Given the description of an element on the screen output the (x, y) to click on. 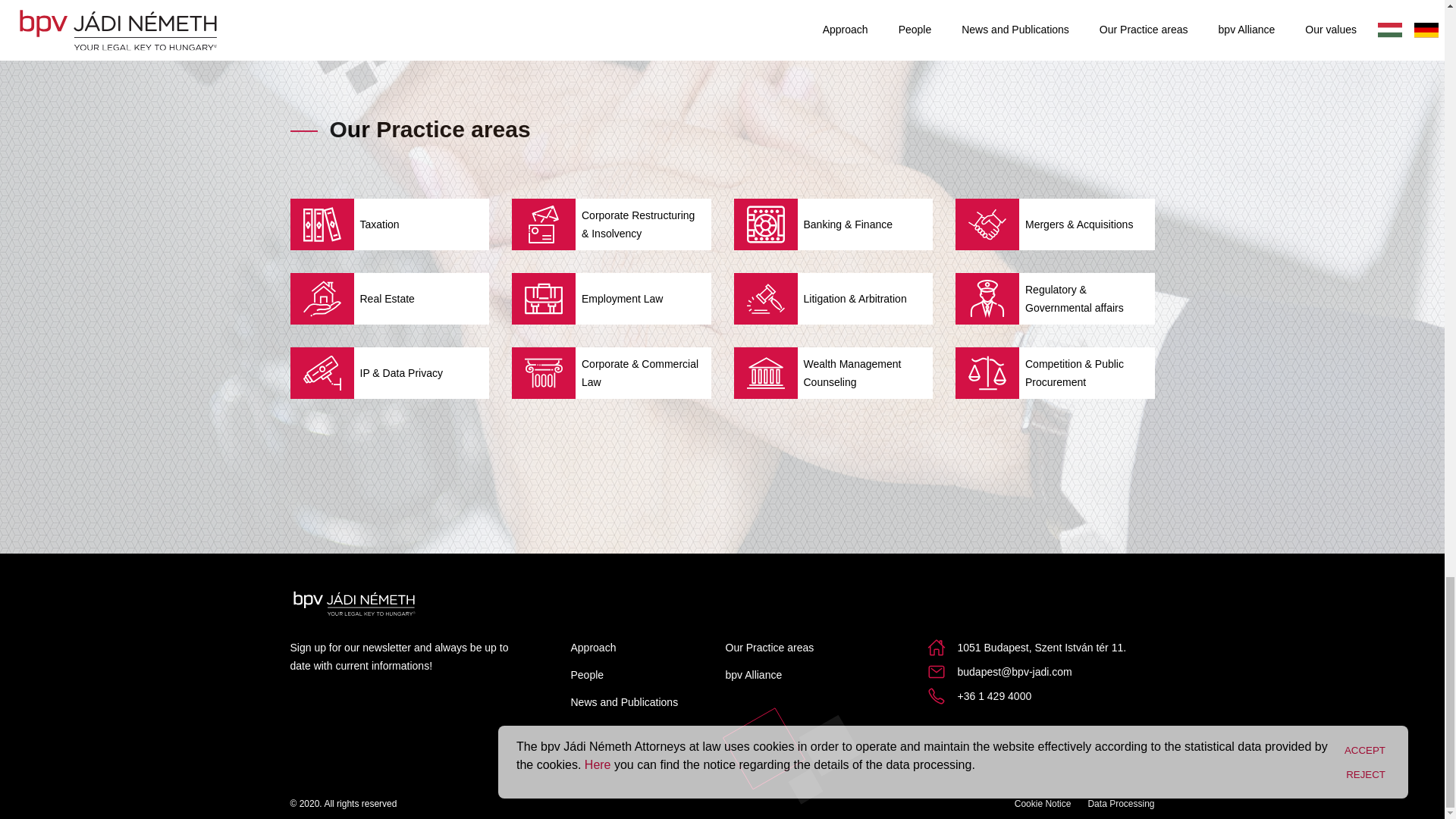
Our Practice areas  (769, 647)
Wealth Management Counseling (833, 372)
Approach (592, 647)
Real Estate (389, 298)
Employment Law (611, 298)
News and Publications (624, 702)
Cookie Notice (1042, 803)
News and Publications (624, 702)
Taxation (389, 224)
bpv Alliance (753, 674)
Our Practice areas (769, 647)
bpv Alliance (753, 674)
Data Processing (1120, 803)
Approach (592, 647)
People  (587, 674)
